Given the description of an element on the screen output the (x, y) to click on. 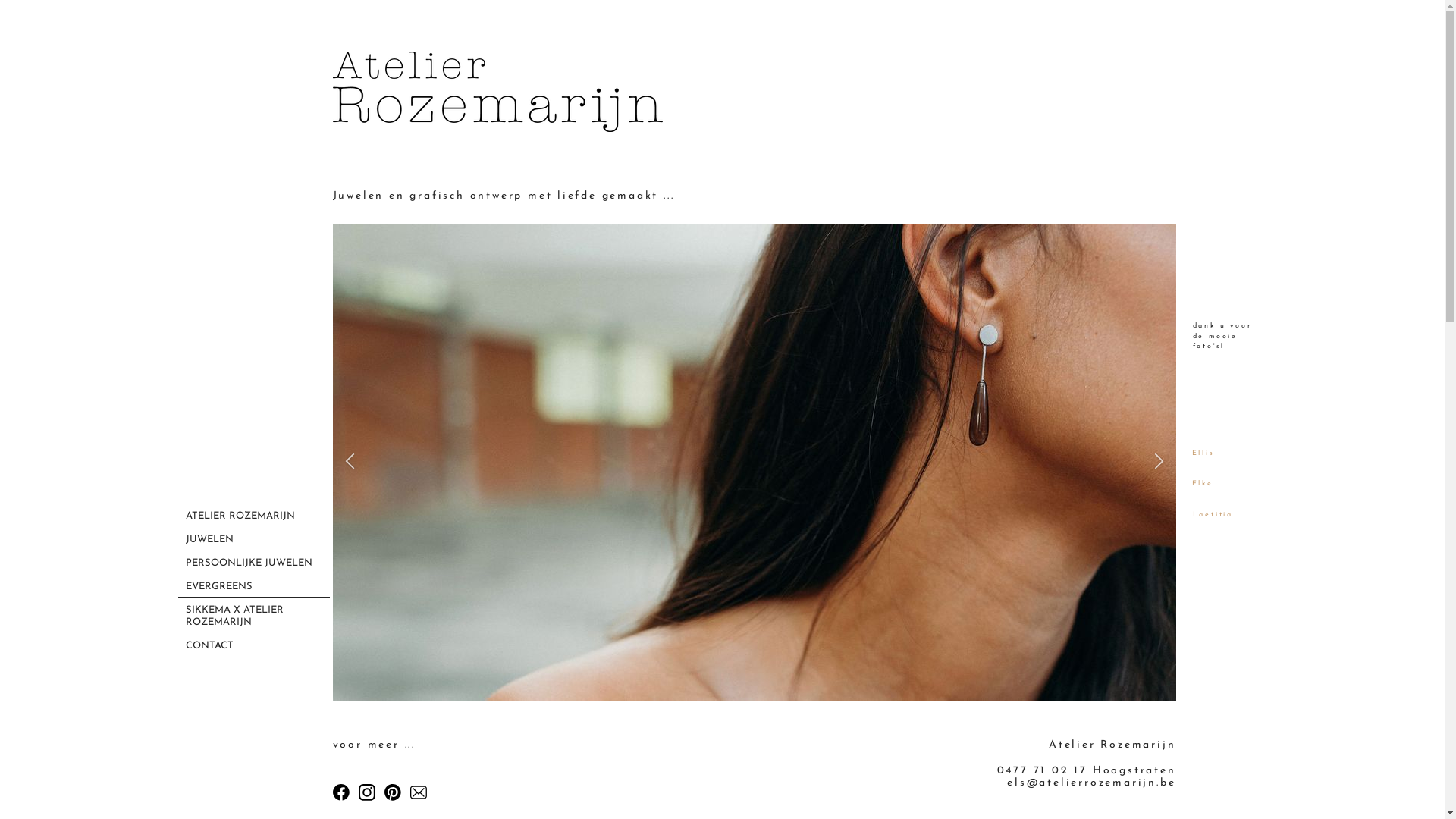
Laetitia Element type: text (1212, 514)
CONTACT Element type: text (253, 644)
evergreen oorbel rookkwarts - pic Elke Van den Ende Element type: hover (753, 462)
EVERGREENS Element type: text (253, 585)
JUWELEN Element type: text (253, 538)
Ellis Element type: text (1203, 452)
SIKKEMA X ATELIER ROZEMARIJN Element type: text (253, 615)
Elke Element type: text (1202, 483)
ATELIER ROZEMARIJN Element type: text (253, 515)
PERSOONLIJKE JUWELEN Element type: text (253, 562)
